Given the description of an element on the screen output the (x, y) to click on. 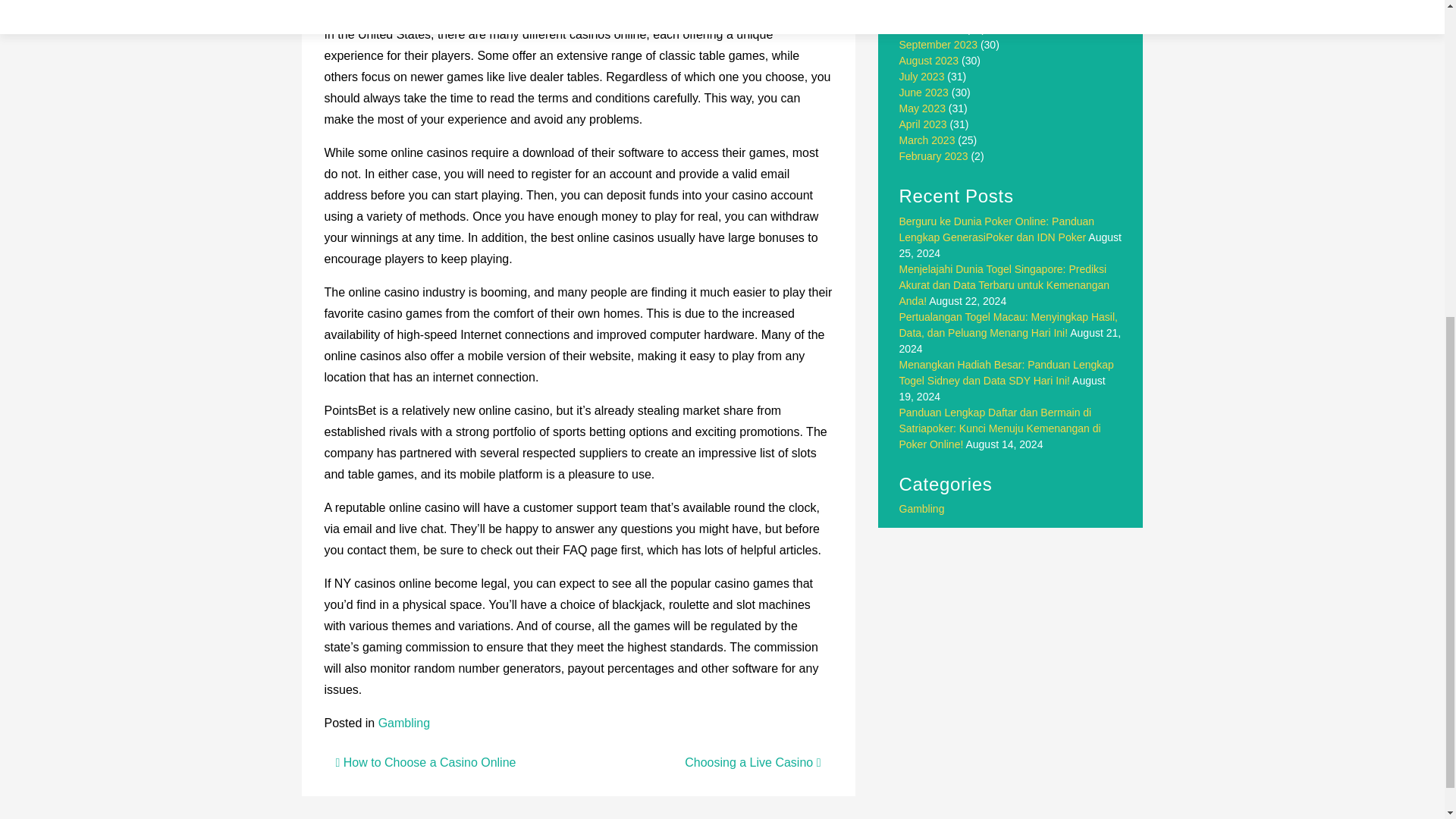
Gambling (403, 722)
June 2023 (924, 92)
May 2023 (921, 108)
November 2023 (937, 12)
September 2023 (938, 44)
Choosing a Live Casino  (752, 762)
 How to Choose a Casino Online (424, 762)
August 2023 (929, 60)
